Given the description of an element on the screen output the (x, y) to click on. 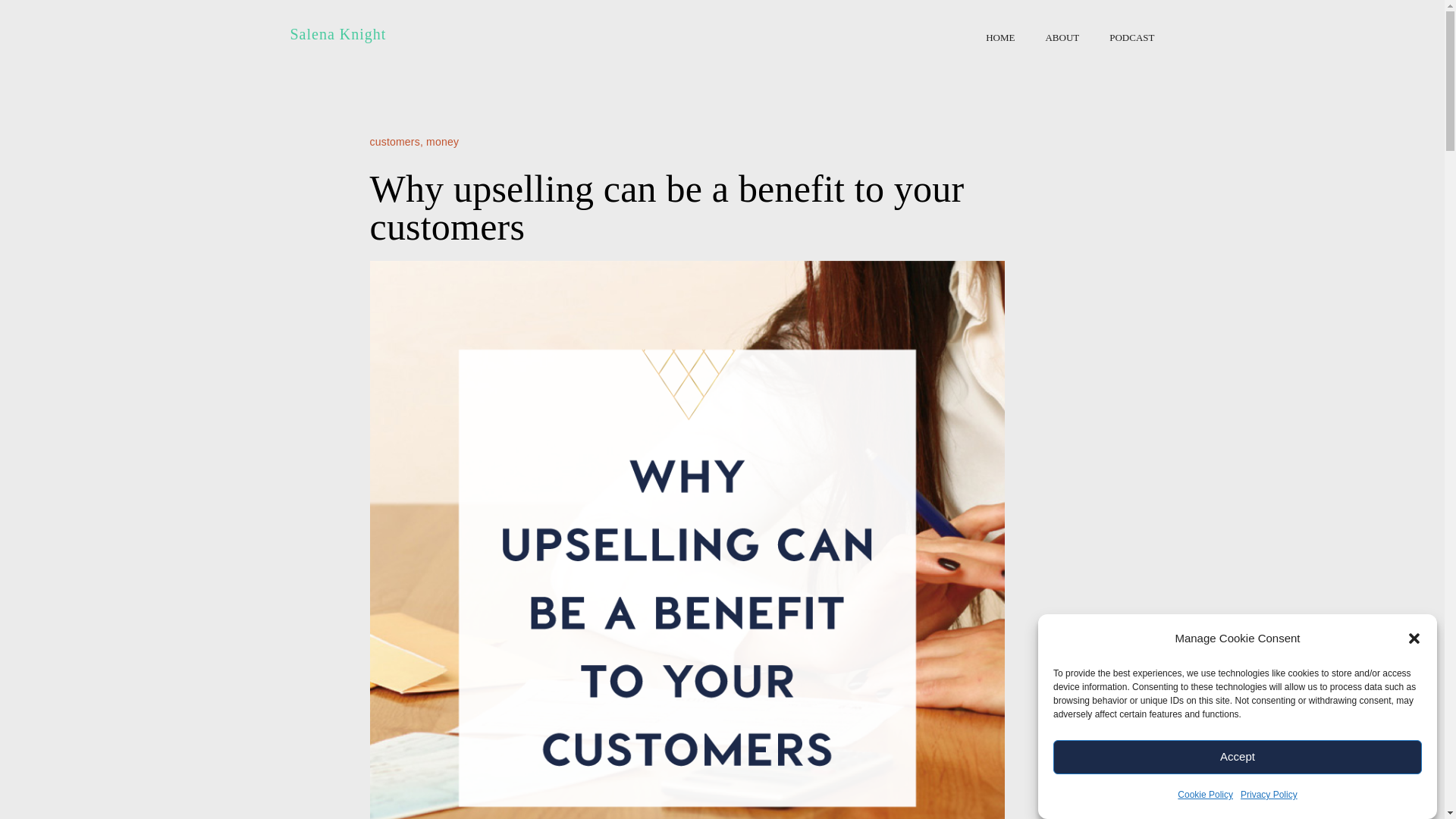
ABOUT (1061, 37)
HOME (999, 37)
Salena Knight (337, 33)
PODCAST (1131, 37)
